Given the description of an element on the screen output the (x, y) to click on. 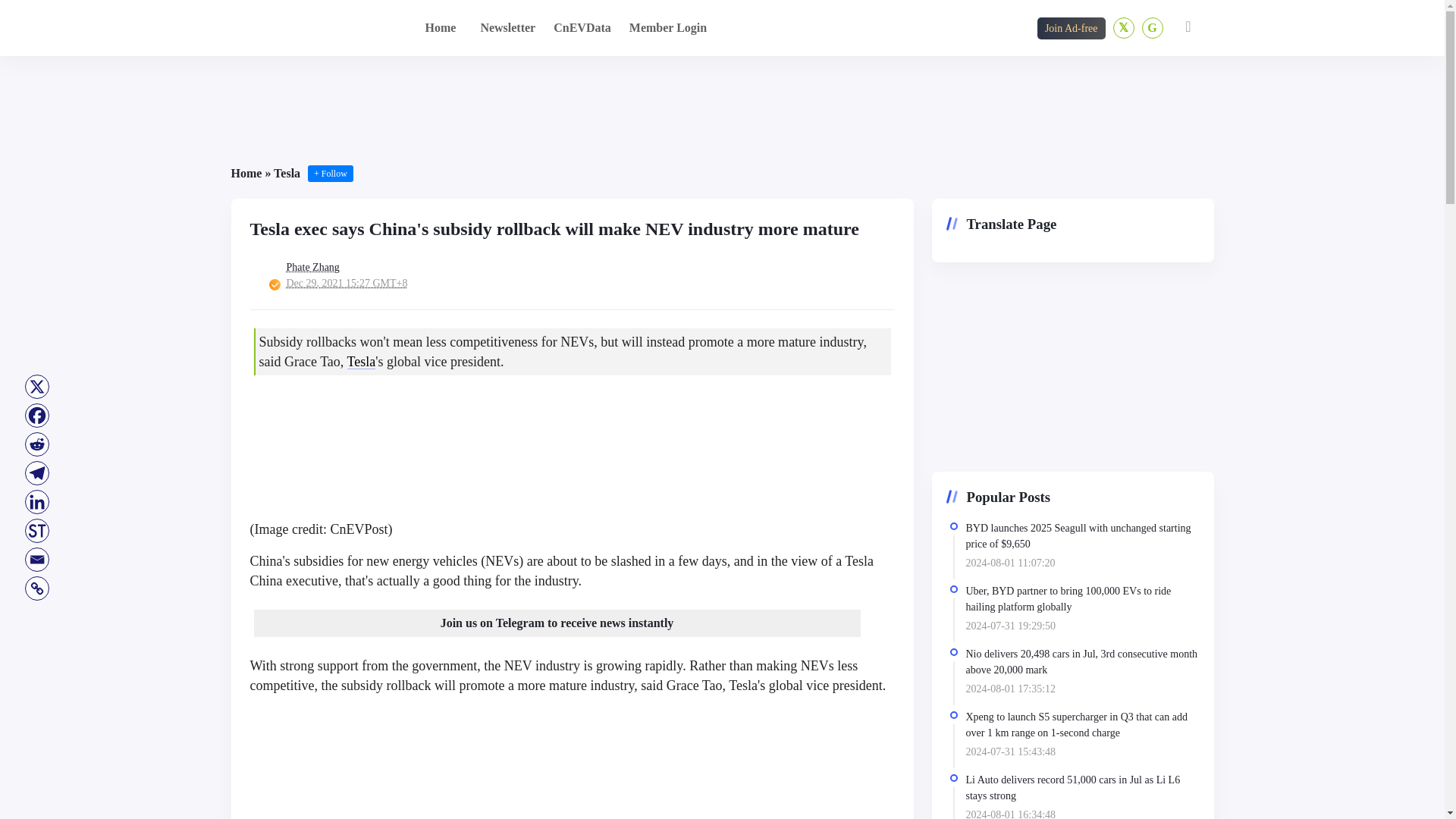
G (1152, 27)
Facebook (36, 415)
Tesla (286, 173)
X (36, 386)
Home (246, 173)
Tesla (361, 361)
Member Login (668, 27)
CnEVData (582, 27)
Home (440, 27)
Join us on Telegram to receive news instantly (557, 622)
